Given the description of an element on the screen output the (x, y) to click on. 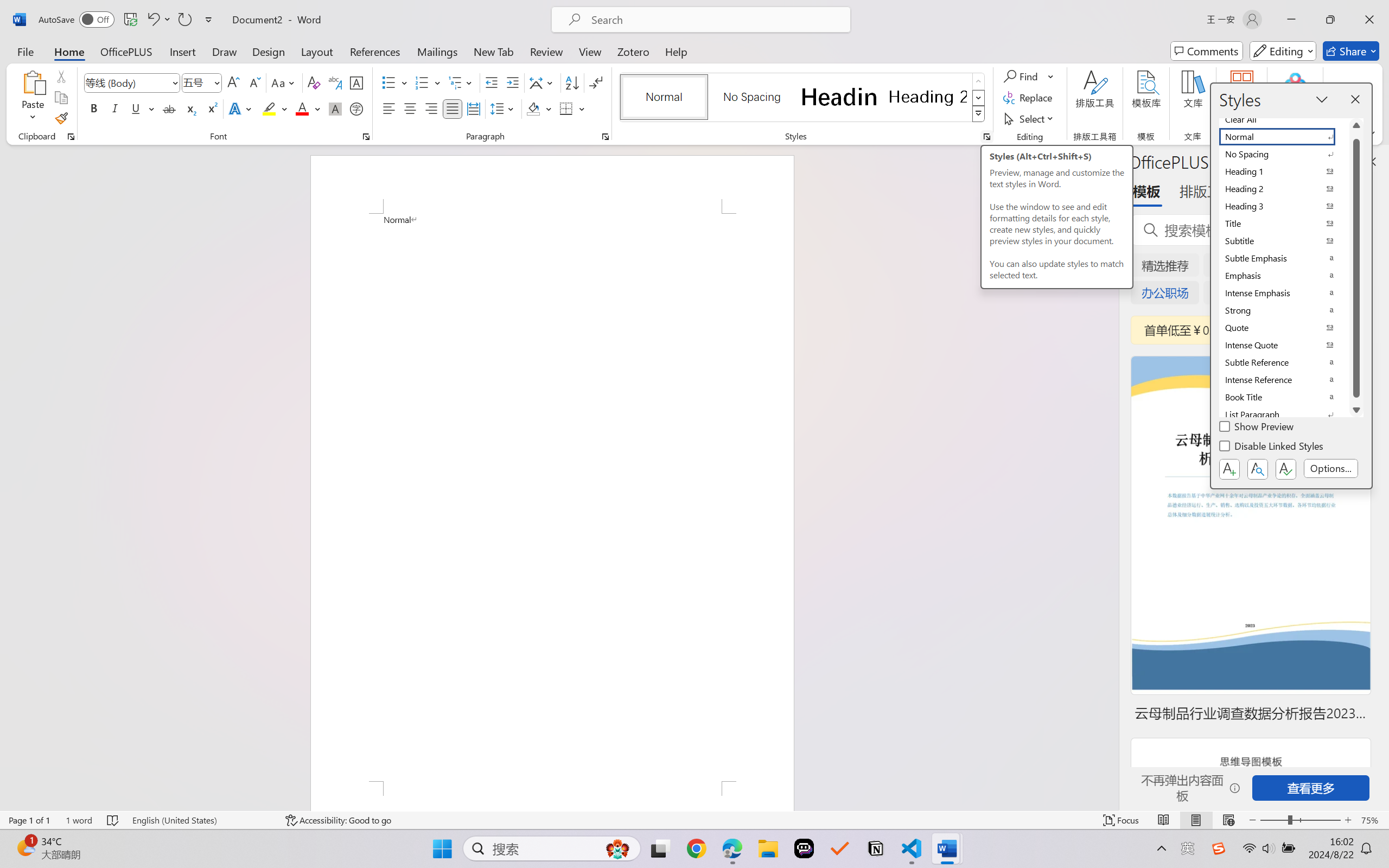
Change Case (284, 82)
Heading 3 (1283, 206)
Text Highlight Color (274, 108)
Text Effects and Typography (241, 108)
Distributed (473, 108)
Class: NetUIButton (1285, 469)
Shading (539, 108)
Shading RGB(0, 0, 0) (533, 108)
Replace... (1029, 97)
Heading 2 (927, 96)
Language English (United States) (201, 819)
Save (130, 19)
Print Layout (1196, 819)
Clear All (1283, 119)
